Given the description of an element on the screen output the (x, y) to click on. 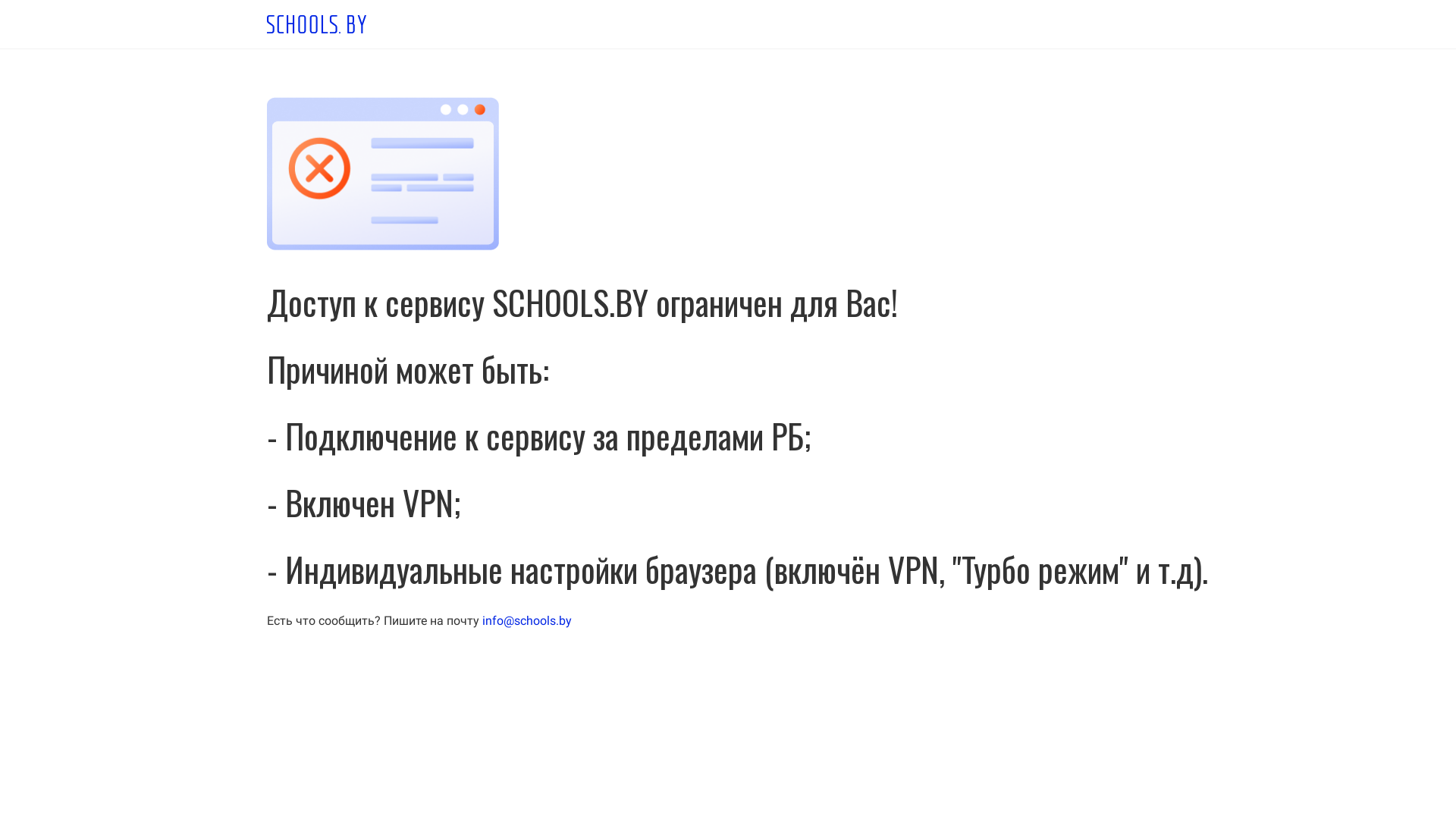
info@schools.by Element type: text (526, 620)
